Given the description of an element on the screen output the (x, y) to click on. 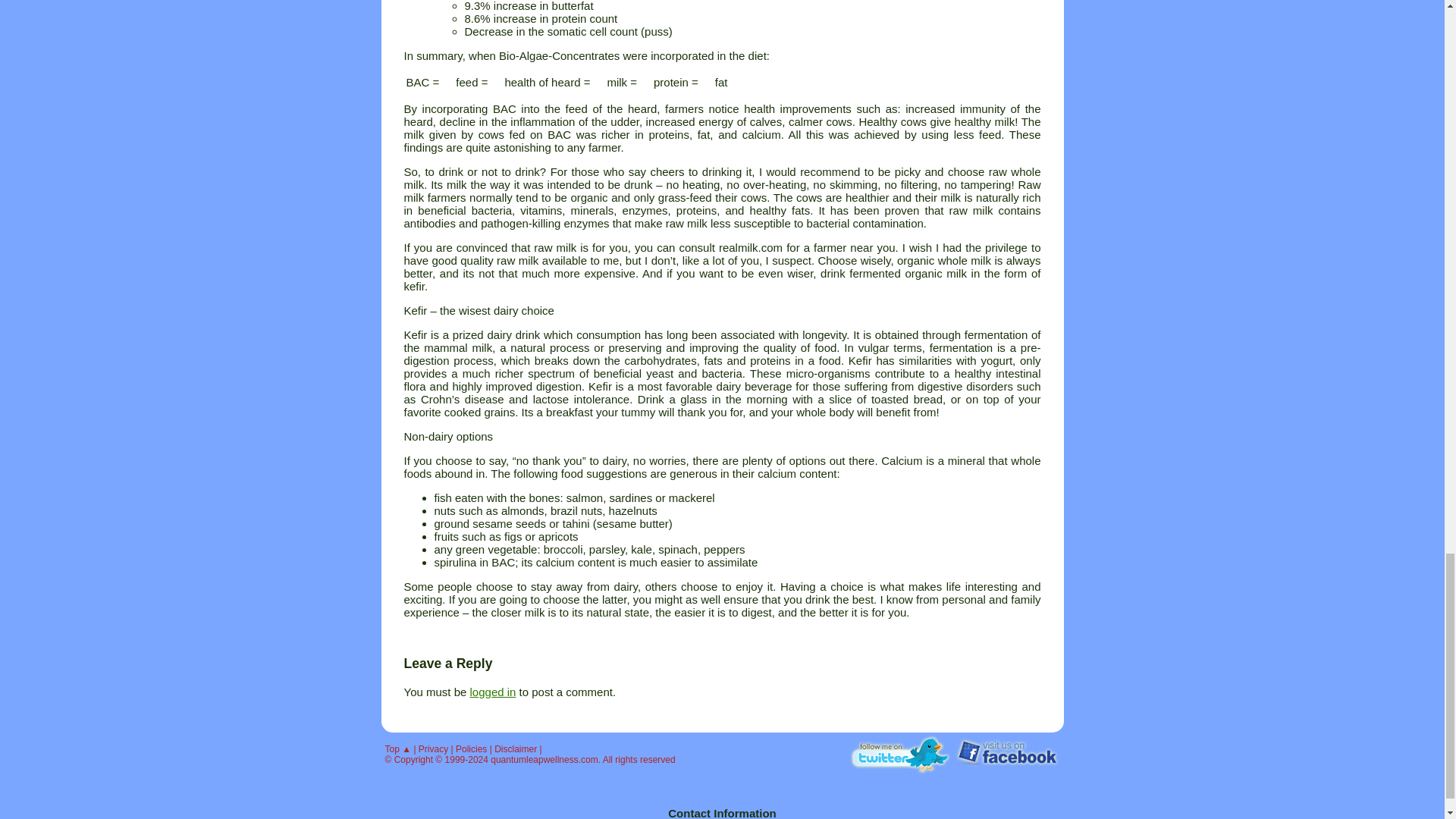
Policies (470, 748)
Privacy (433, 748)
Disclaimer (516, 748)
logged in (493, 691)
